Given the description of an element on the screen output the (x, y) to click on. 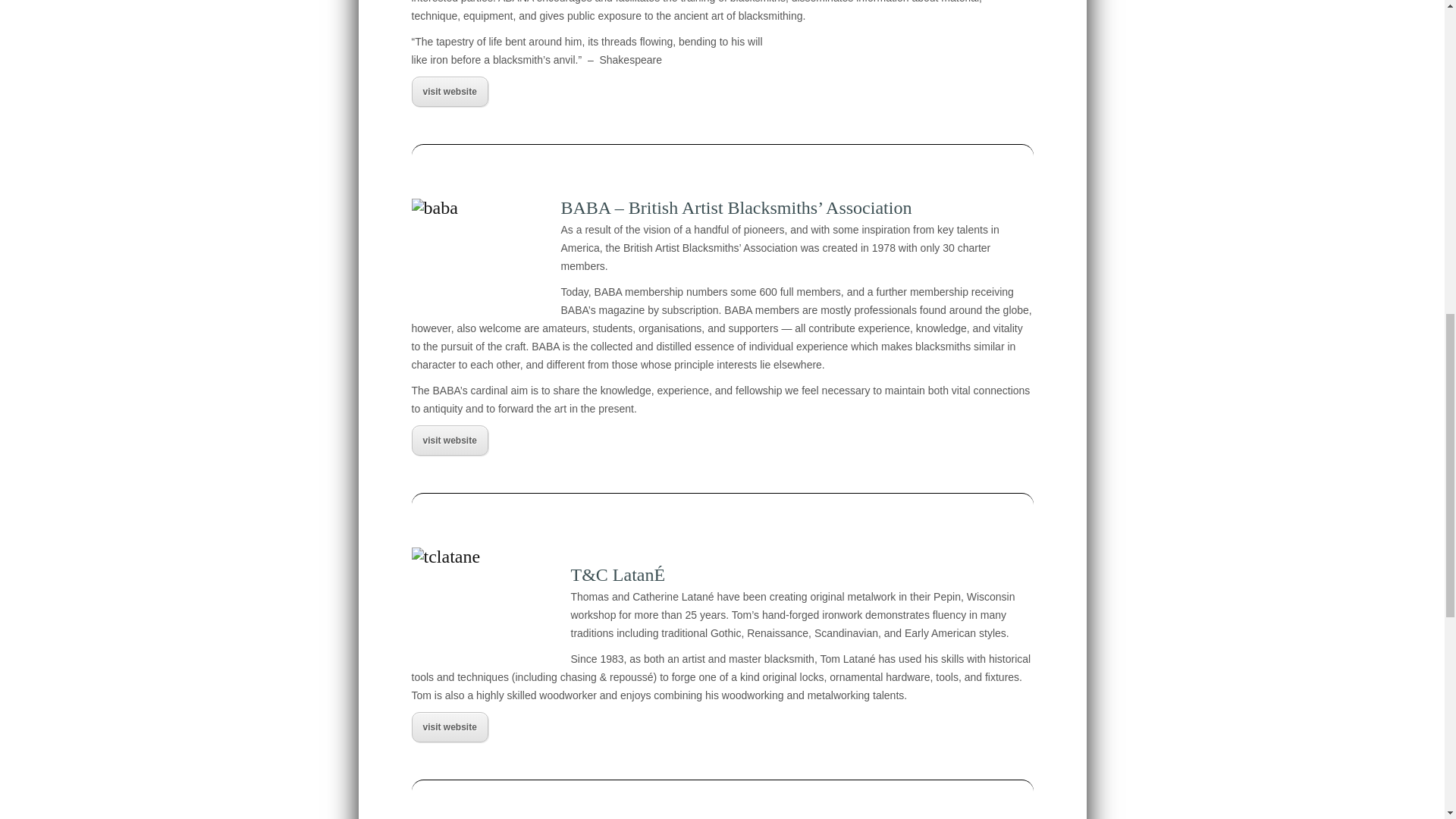
visit website (448, 92)
visit website (448, 441)
visit website (448, 728)
